Given the description of an element on the screen output the (x, y) to click on. 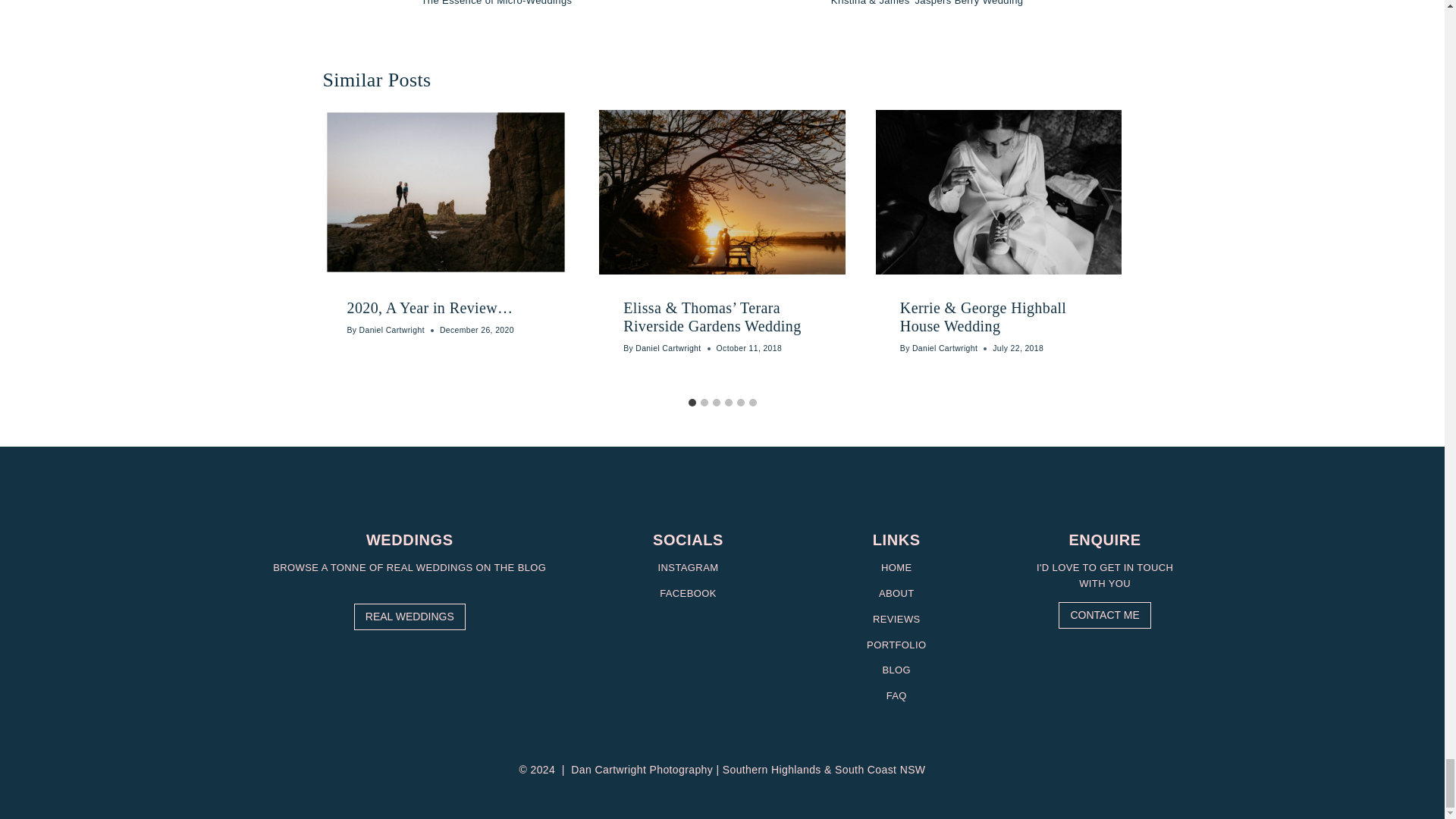
Daniel Cartwright (944, 347)
Daniel Cartwright (392, 329)
Daniel Cartwright (667, 347)
